Given the description of an element on the screen output the (x, y) to click on. 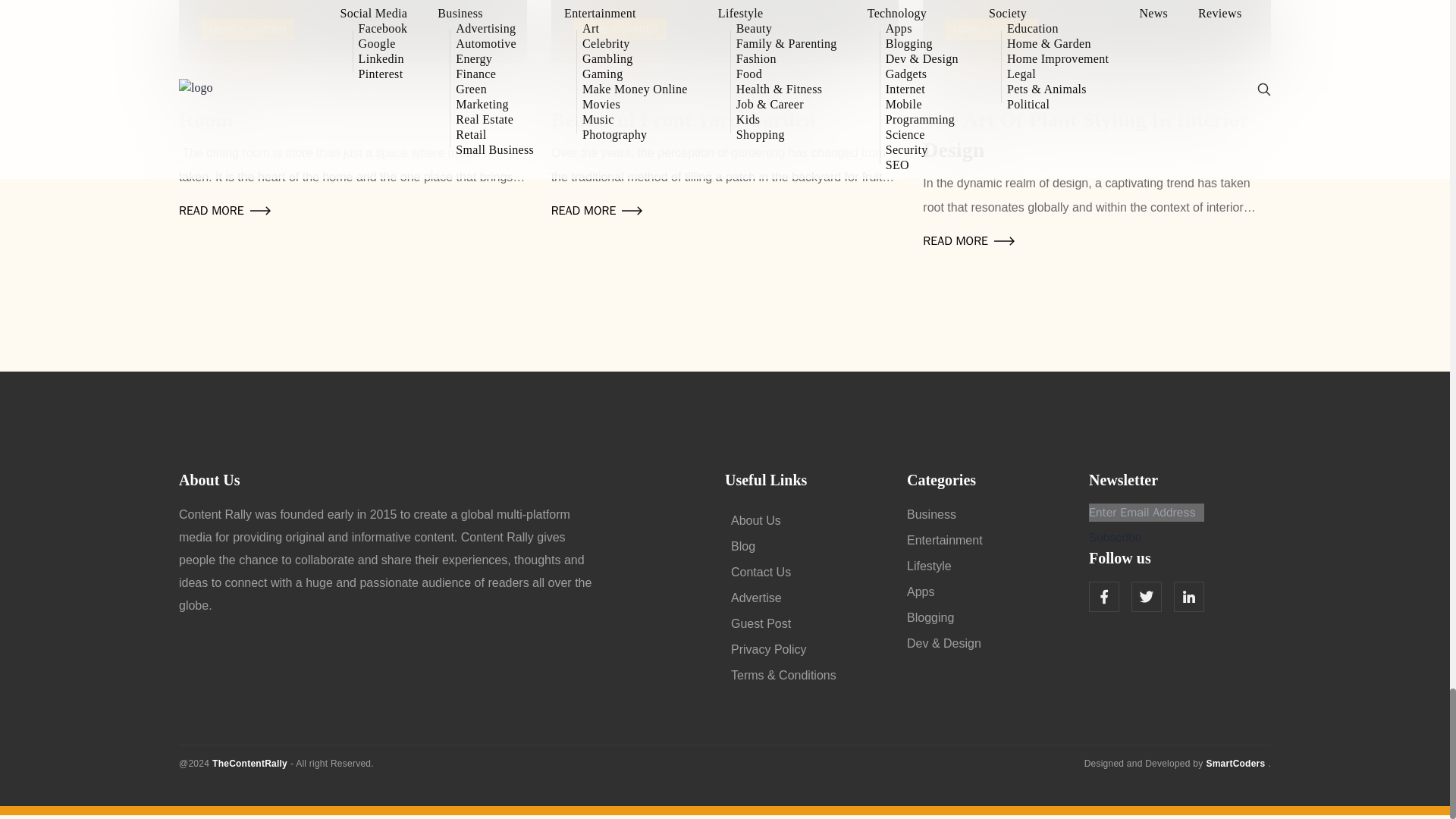
Subscribe (1115, 537)
